Given the description of an element on the screen output the (x, y) to click on. 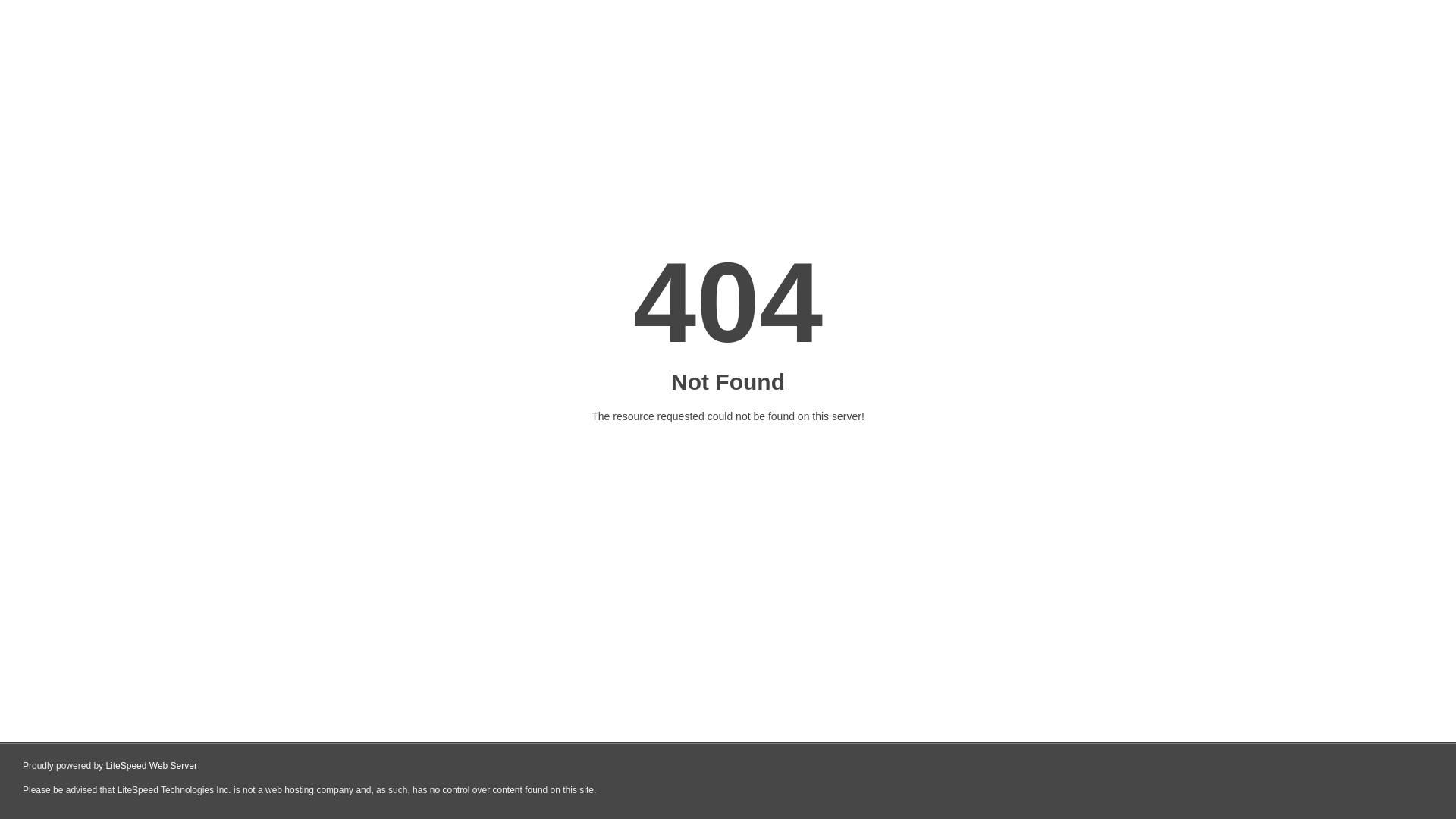
LiteSpeed Web Server Element type: text (151, 765)
